Given the description of an element on the screen output the (x, y) to click on. 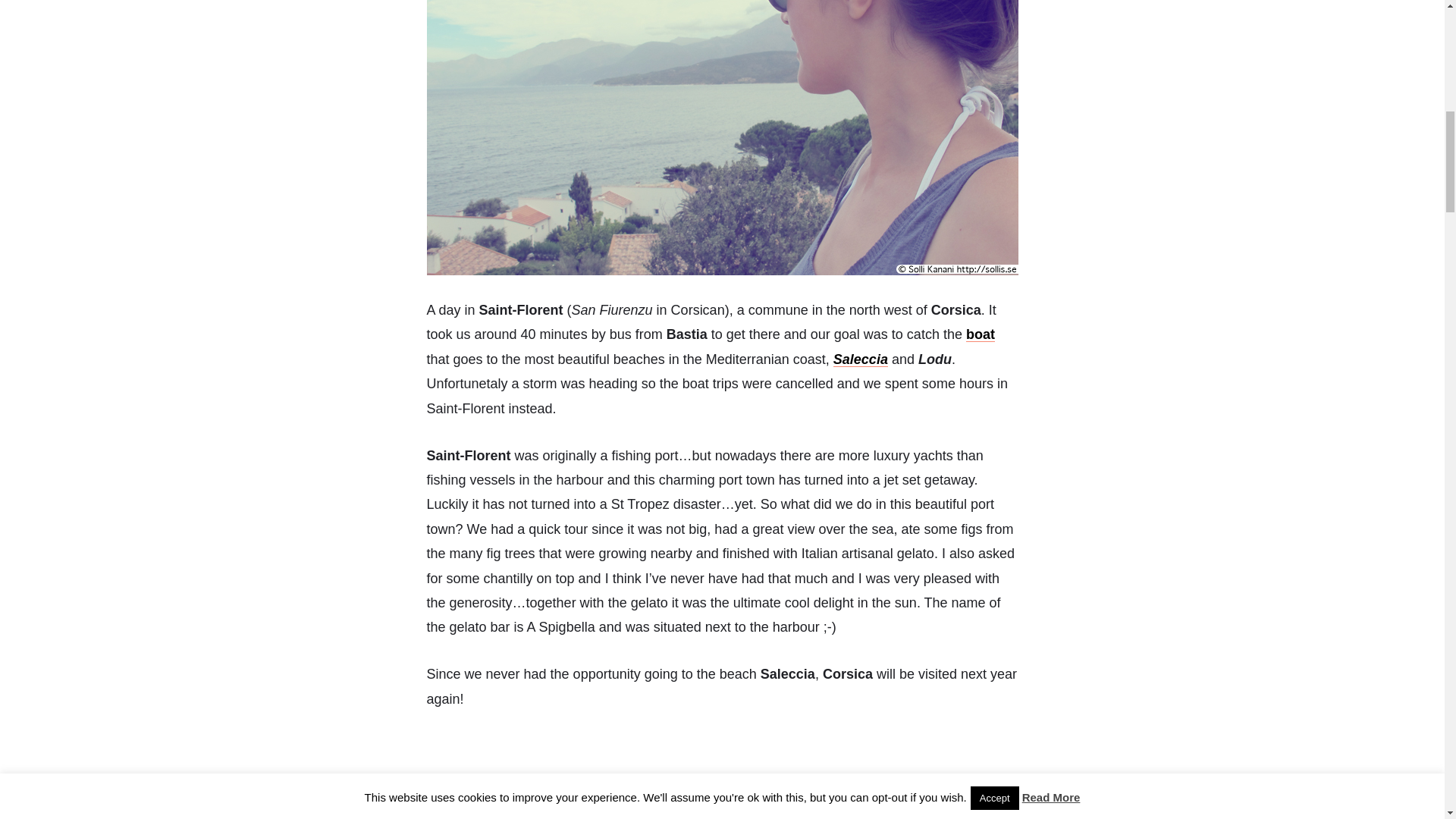
Saint-Florent, Corsica (721, 776)
Saleccia (860, 359)
Le Popeye (980, 334)
